Given the description of an element on the screen output the (x, y) to click on. 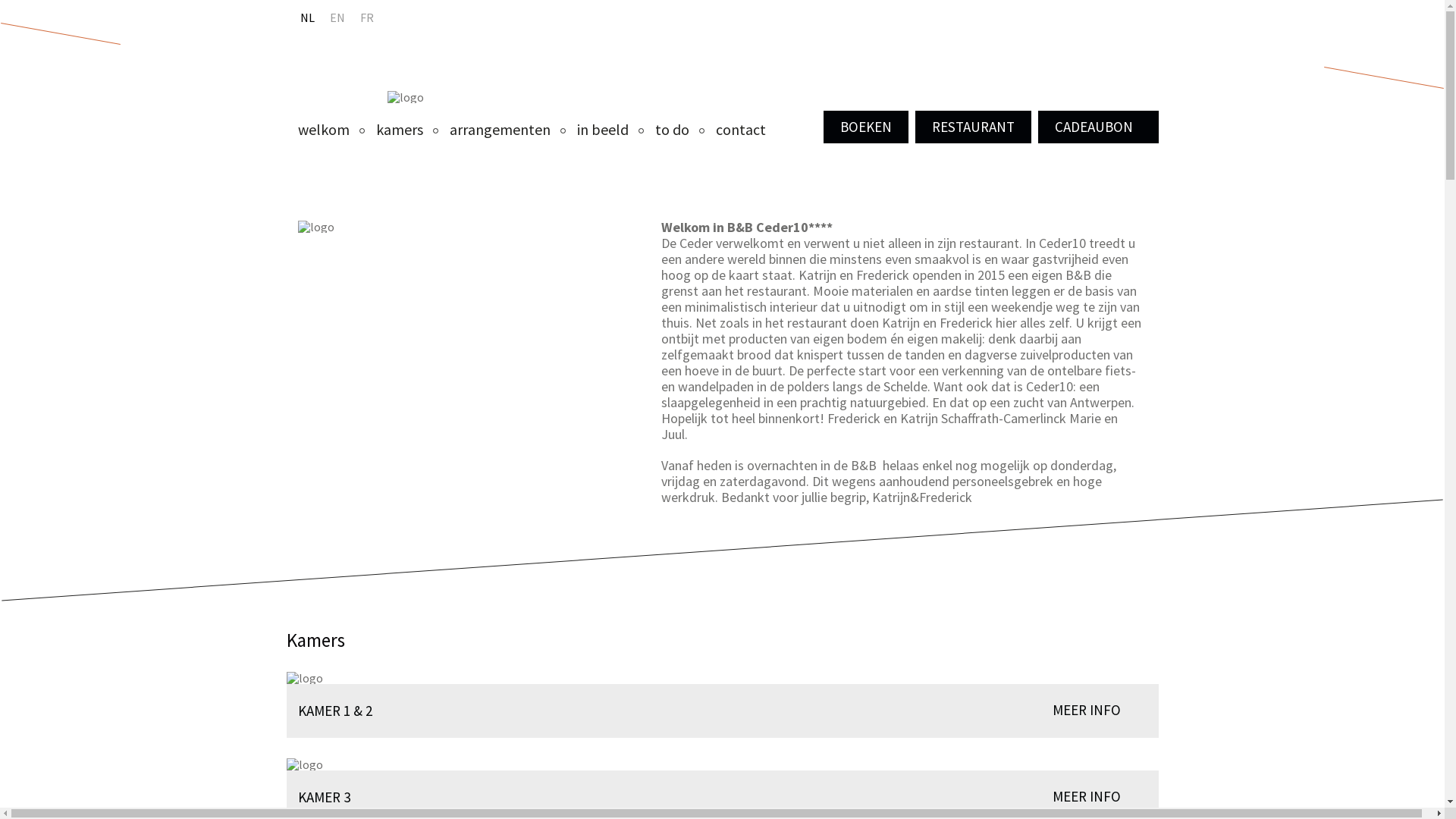
MEER INFO Element type: text (1086, 709)
contact Element type: text (740, 128)
welkom Element type: text (322, 128)
EN Element type: text (336, 17)
RESTAURANT Element type: text (972, 126)
arrangementen Element type: text (498, 128)
CADEAUBON    Element type: text (1097, 126)
kamers Element type: text (399, 128)
NL Element type: text (307, 17)
to do Element type: text (672, 128)
FR Element type: text (365, 17)
in beeld Element type: text (601, 128)
MEER INFO Element type: text (1086, 796)
BOEKEN Element type: text (865, 126)
